Given the description of an element on the screen output the (x, y) to click on. 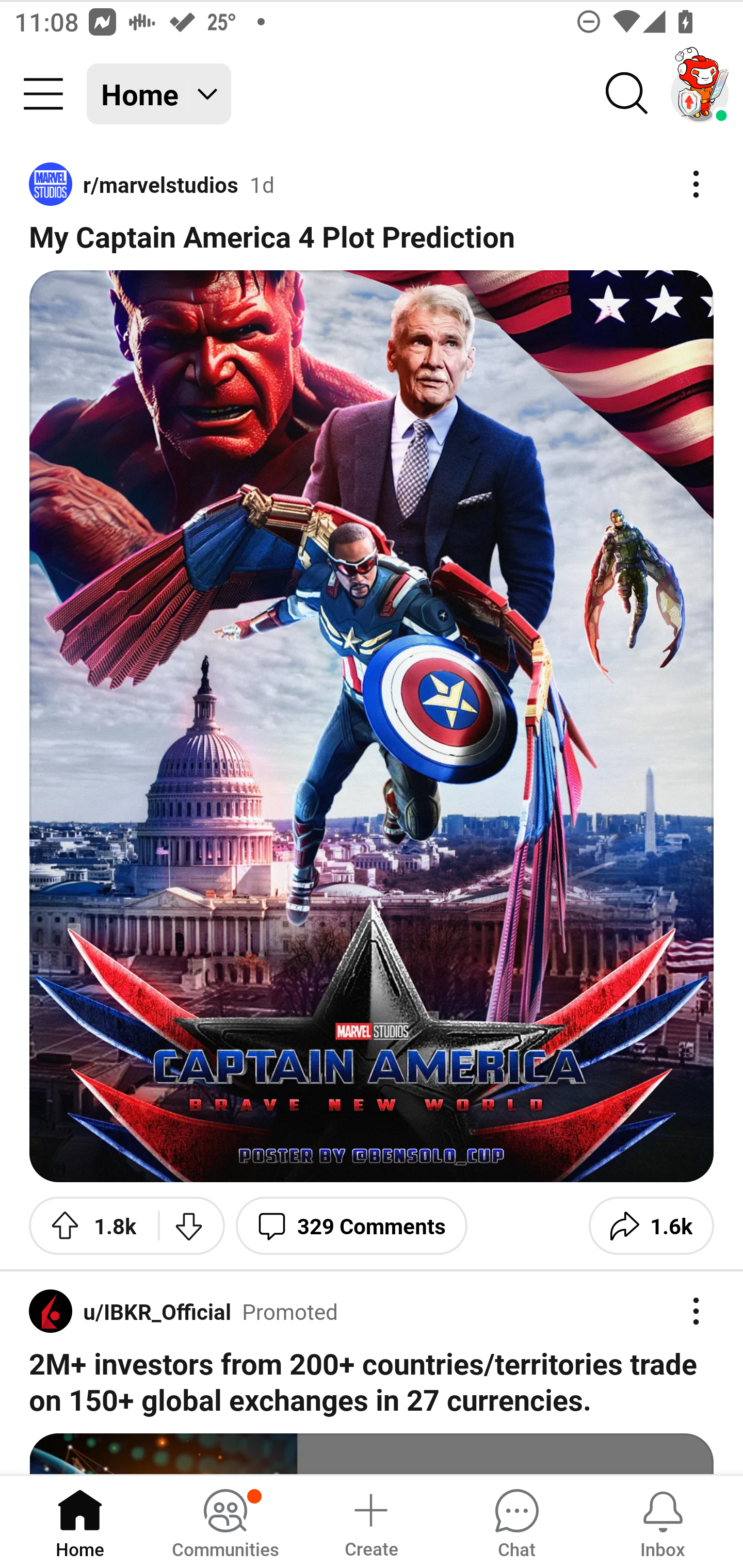
Community menu (43, 93)
Home Home feed (158, 93)
Search (626, 93)
TestAppium002 account (699, 93)
Home (80, 1520)
Communities, has notifications Communities (225, 1520)
Create a post Create (370, 1520)
Chat (516, 1520)
Inbox (662, 1520)
